Given the description of an element on the screen output the (x, y) to click on. 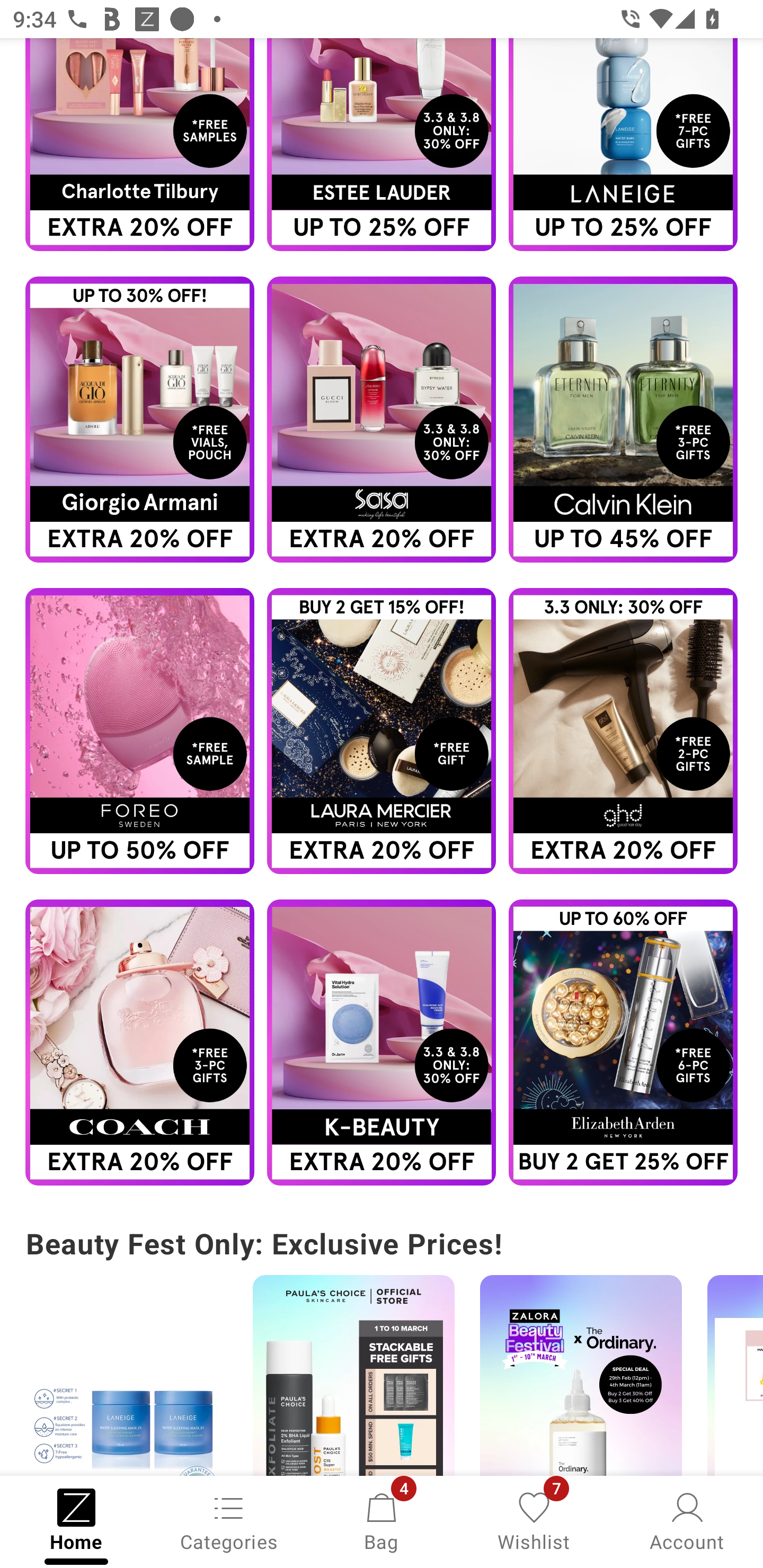
Campaign banner (139, 143)
Campaign banner (381, 143)
Campaign banner (622, 143)
Campaign banner (139, 418)
Campaign banner (381, 418)
Campaign banner (622, 418)
Campaign banner (139, 730)
Campaign banner (381, 730)
Campaign banner (622, 730)
Campaign banner (139, 1042)
Campaign banner (381, 1042)
Campaign banner (622, 1042)
Campaign banner (126, 1374)
Campaign banner (353, 1374)
Campaign banner (580, 1374)
Categories (228, 1519)
Bag, 4 new notifications Bag (381, 1519)
Wishlist, 7 new notifications Wishlist (533, 1519)
Account (686, 1519)
